Given the description of an element on the screen output the (x, y) to click on. 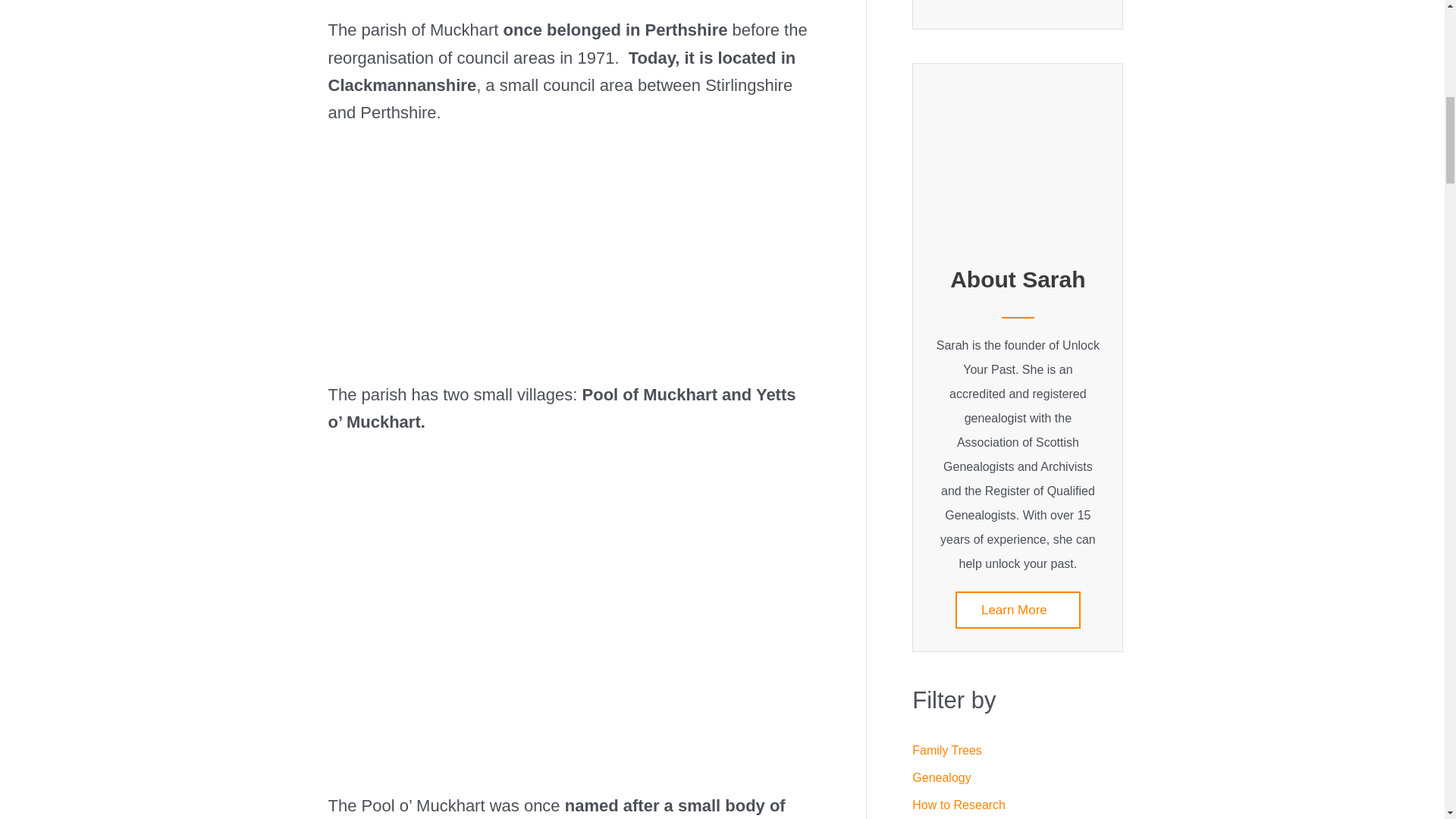
Map of Scotland with Muckhart parish in Clackmannanshire (570, 239)
